Given the description of an element on the screen output the (x, y) to click on. 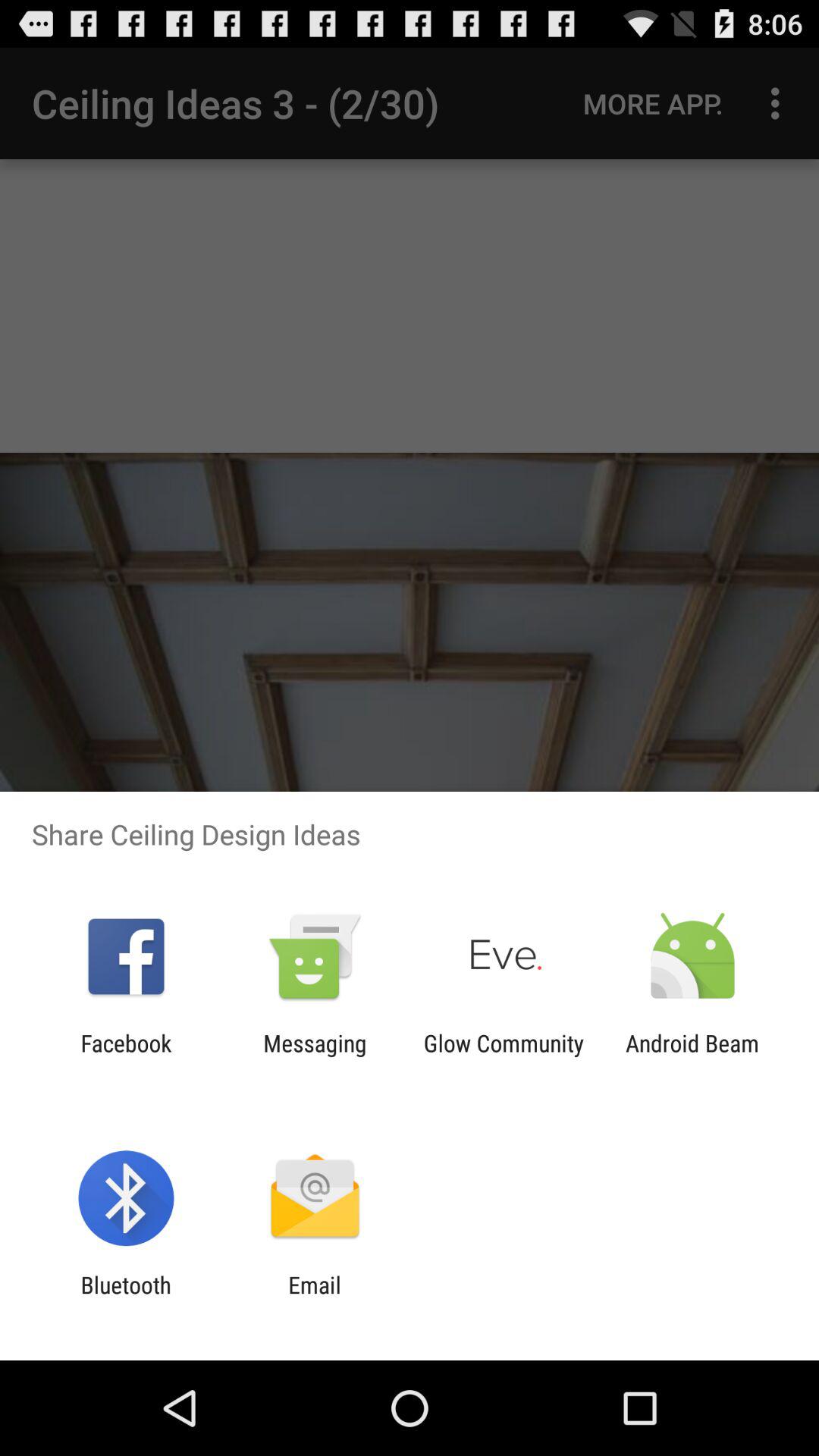
flip until the bluetooth item (125, 1298)
